Given the description of an element on the screen output the (x, y) to click on. 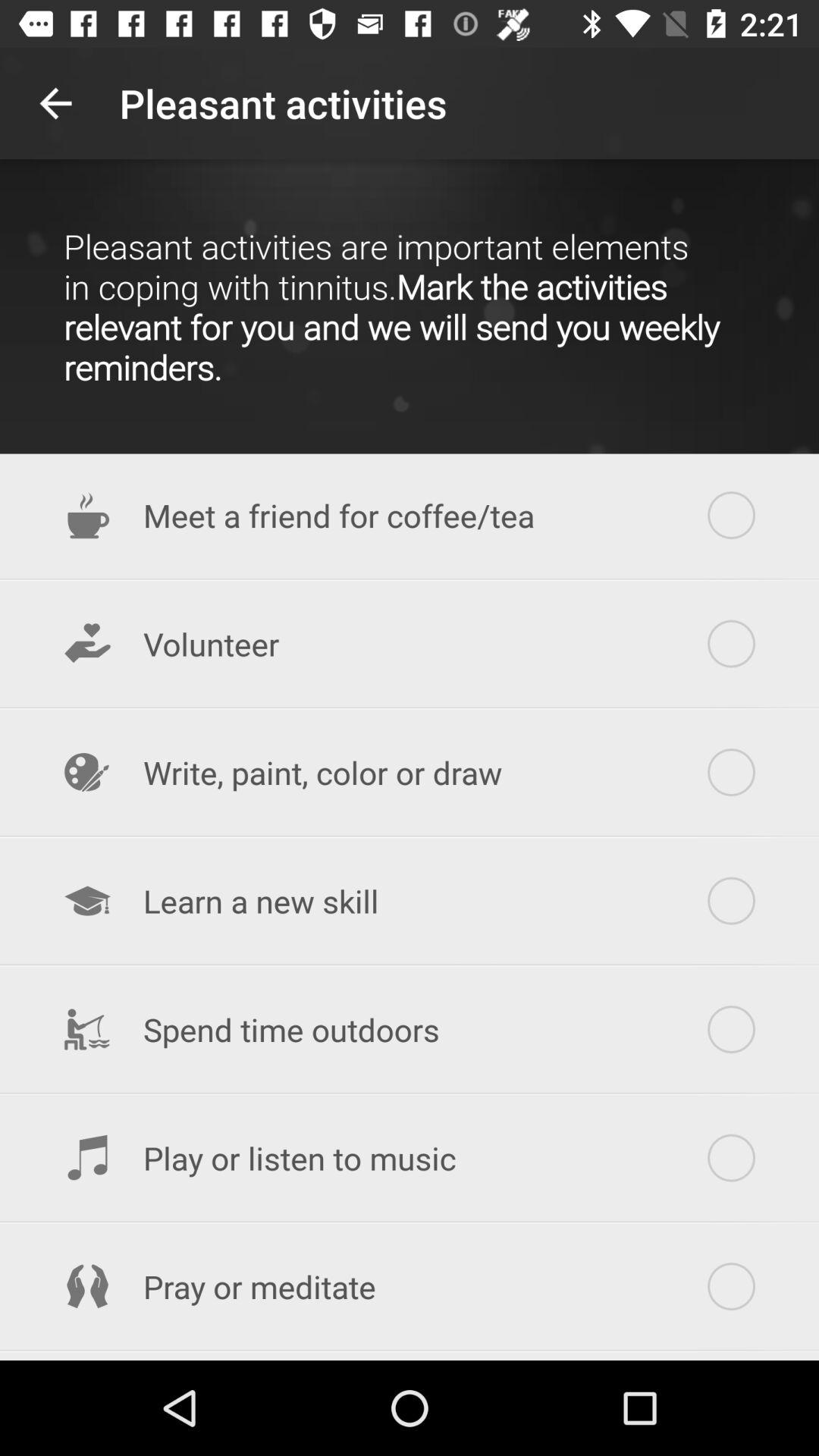
tap the icon to the left of pleasant activities item (55, 103)
